Given the description of an element on the screen output the (x, y) to click on. 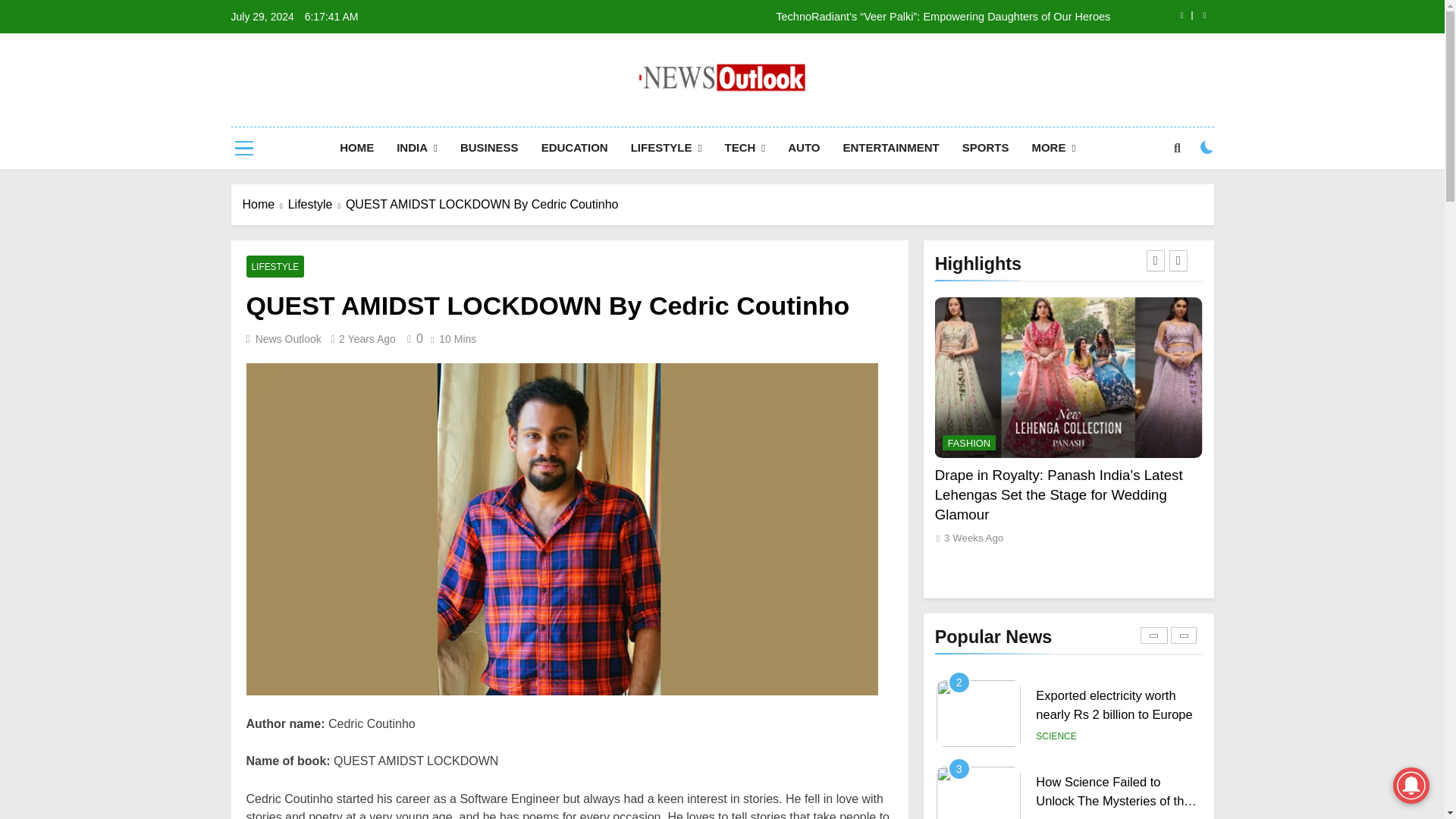
TECH (744, 147)
on (1206, 146)
EDUCATION (574, 147)
AUTO (803, 147)
BUSINESS (488, 147)
LIFESTYLE (666, 147)
News Outlook (594, 116)
INDIA (416, 147)
HOME (357, 147)
